Given the description of an element on the screen output the (x, y) to click on. 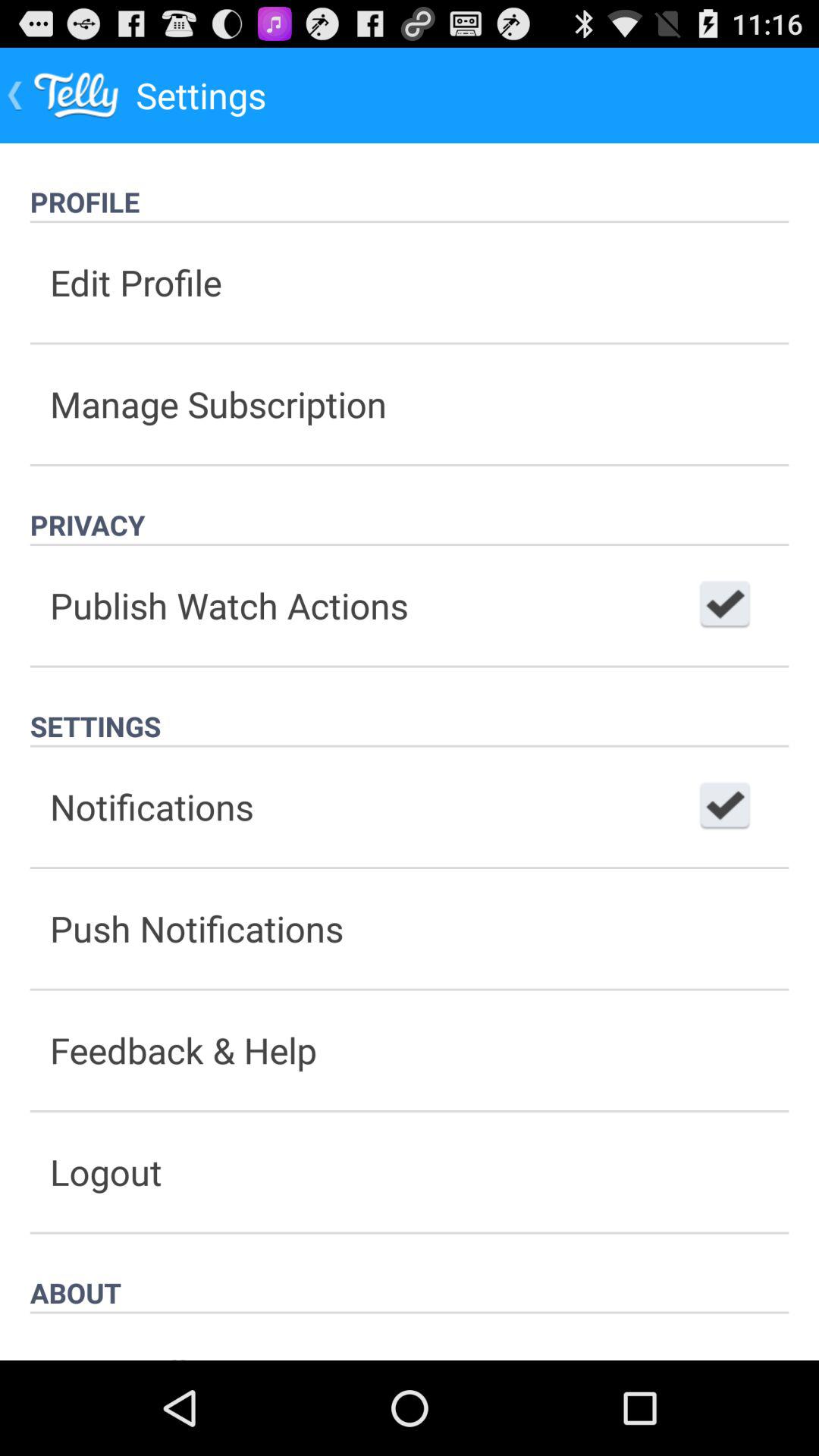
tap button below the feedback & help (409, 1171)
